Given the description of an element on the screen output the (x, y) to click on. 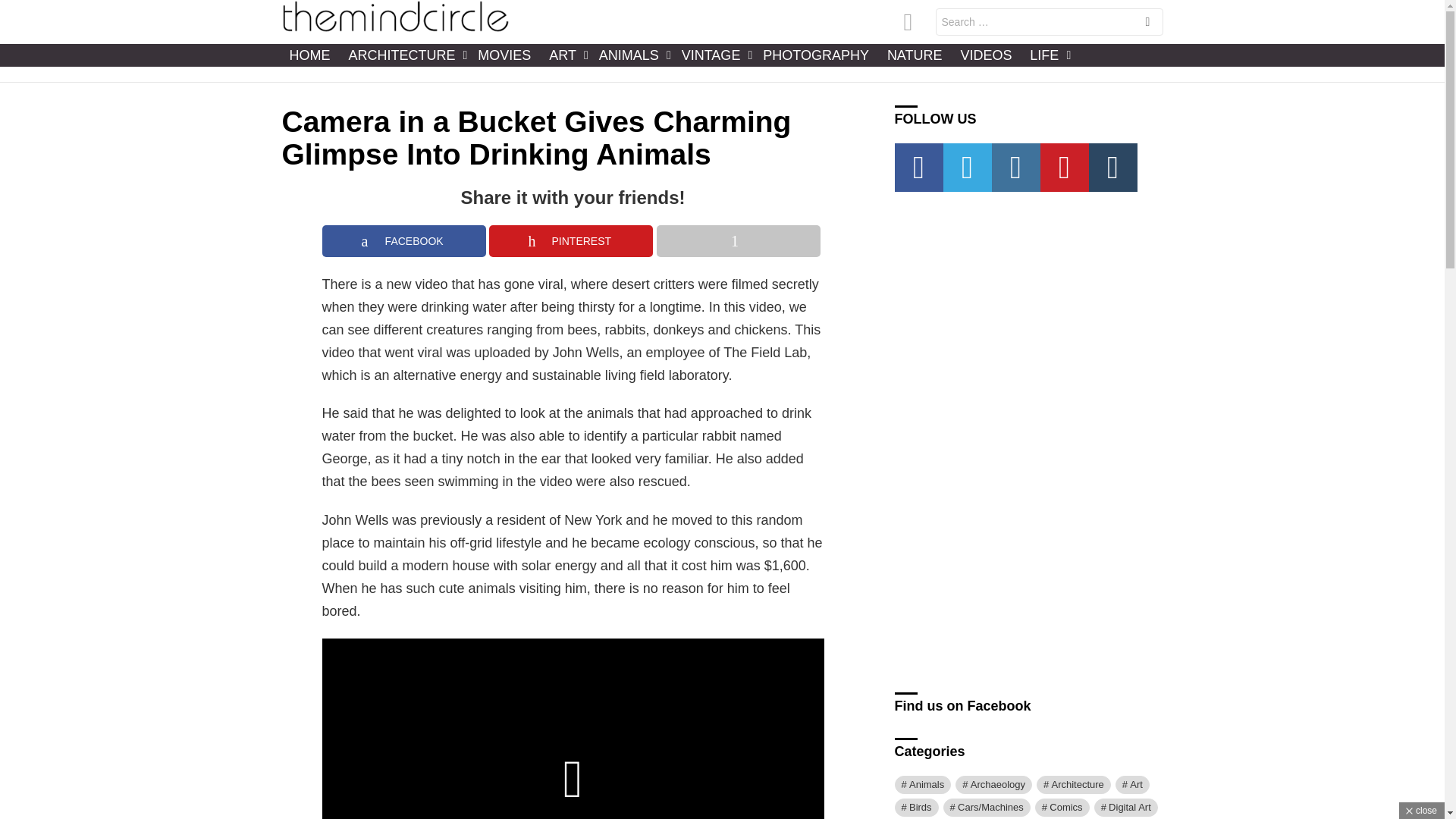
FACEBOOK (403, 241)
LIFE (1046, 55)
Search for: (1049, 22)
ART (564, 55)
ARCHITECTURE (403, 55)
MOVIES (504, 55)
Share on More Button (738, 241)
Share on Pinterest (570, 241)
NATURE (914, 55)
VINTAGE (713, 55)
